Given the description of an element on the screen output the (x, y) to click on. 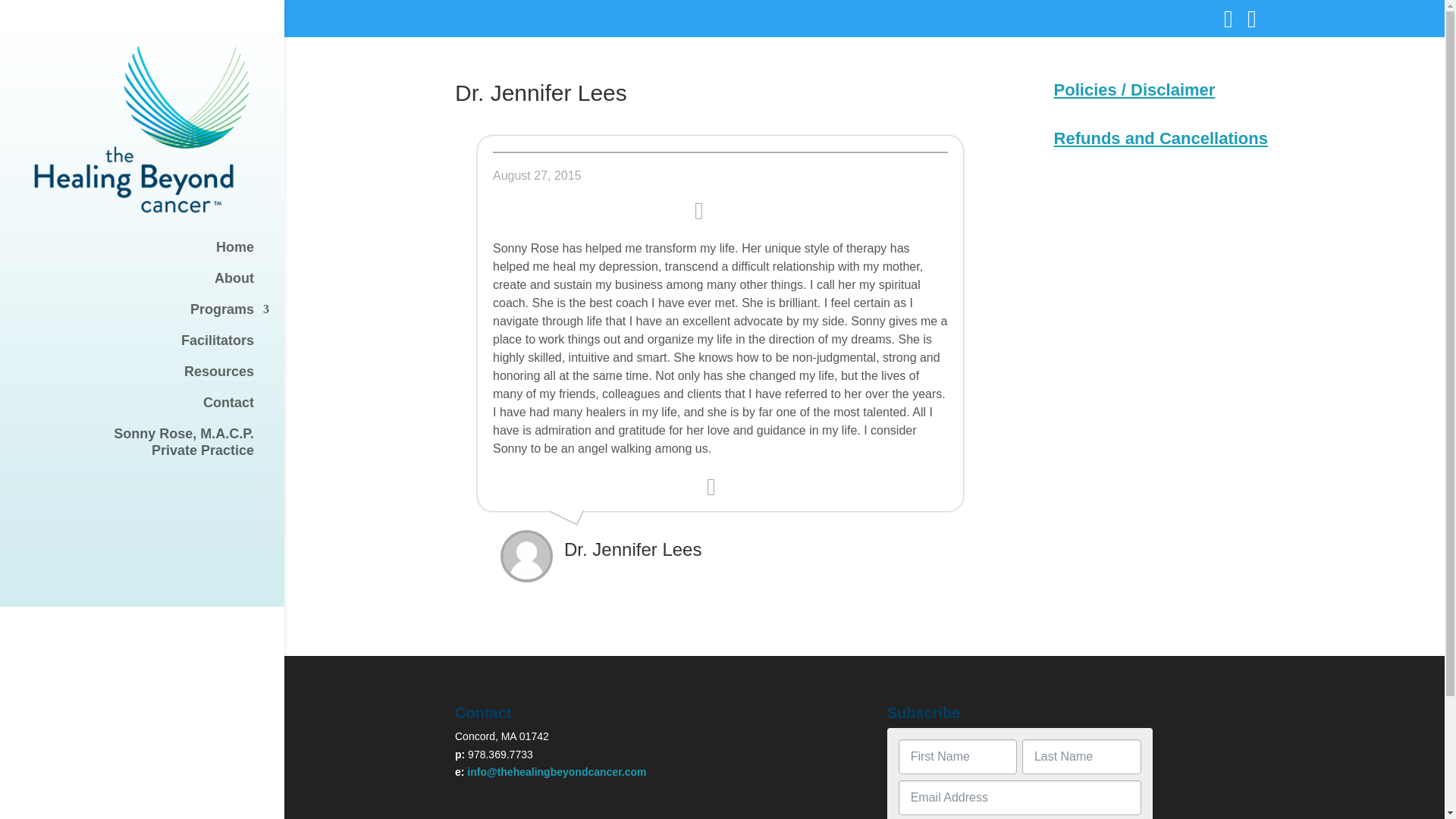
Refunds and Cancellations (1161, 138)
About (156, 285)
Programs (156, 449)
Facilitators (156, 316)
Contact (156, 347)
Home (156, 409)
Resources (156, 254)
